Given the description of an element on the screen output the (x, y) to click on. 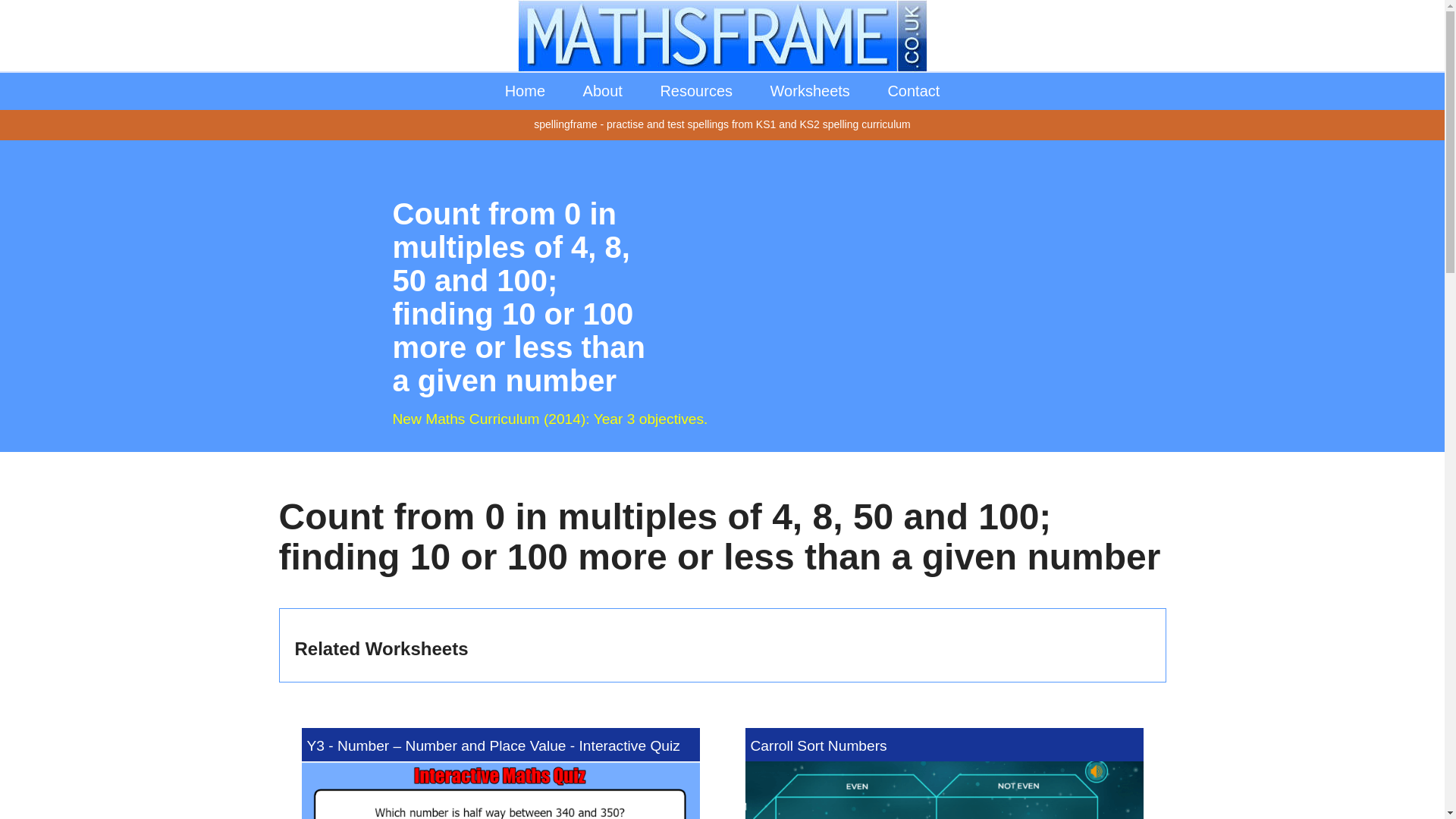
About (603, 90)
Carroll Sort Numbers (943, 773)
Home (524, 90)
Contact (912, 90)
Resources (695, 90)
Worksheets (810, 90)
